Given the description of an element on the screen output the (x, y) to click on. 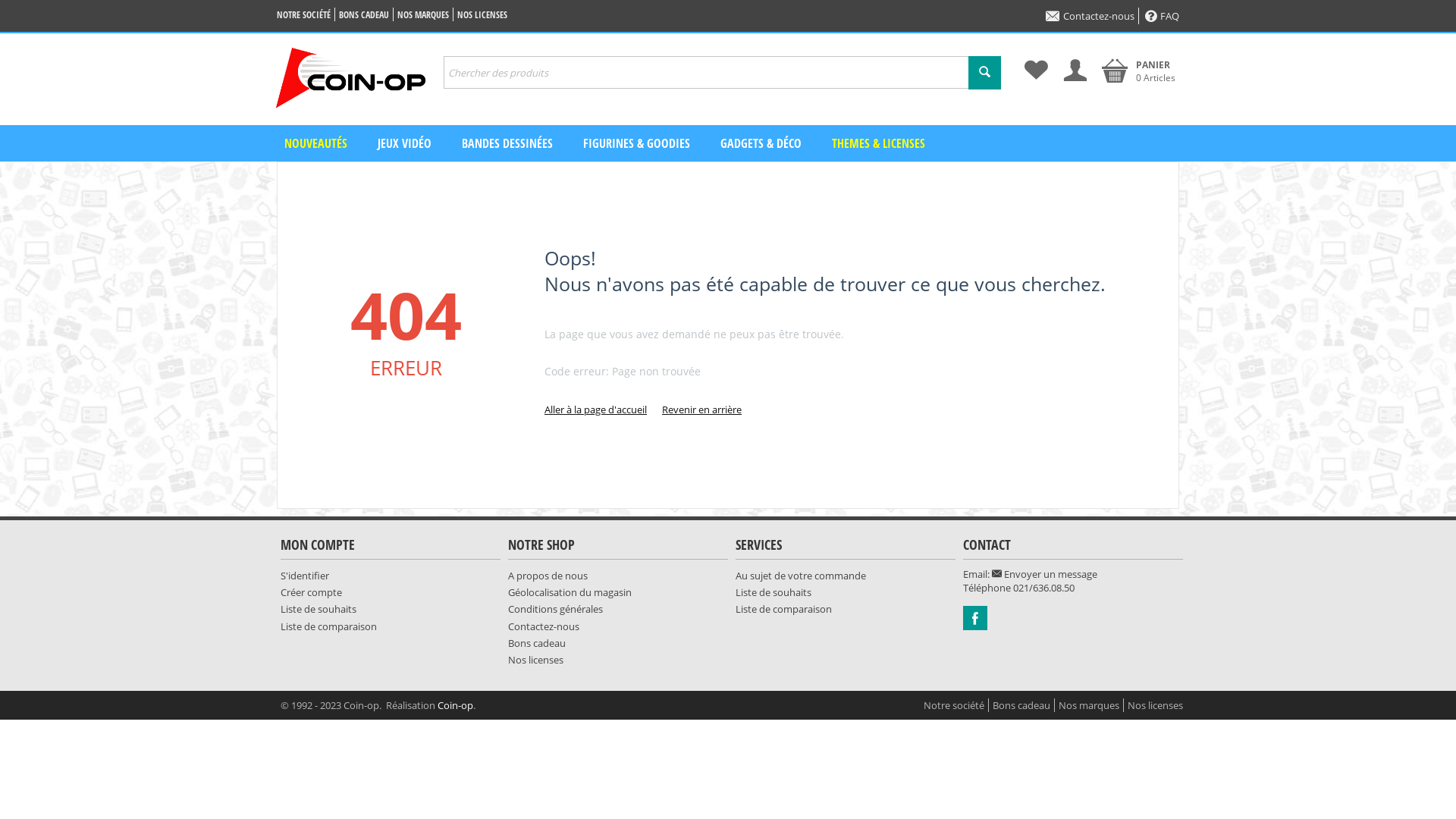
BONS CADEAU Element type: text (363, 14)
Liste de comparaison Element type: text (783, 608)
Coin-op Element type: text (455, 705)
Au sujet de votre commande Element type: text (800, 575)
FAQ Element type: text (1162, 15)
Nos licenses Element type: text (535, 659)
NOS LICENSES Element type: text (482, 14)
Liste de comparaison Element type: text (328, 626)
Chercher des produits Element type: hover (722, 72)
Liste de souhaits Element type: text (773, 592)
Contactez-nous Element type: text (1089, 15)
S'identifier Element type: text (304, 575)
NOS MARQUES Element type: text (422, 14)
Envoyer un message Element type: text (1044, 573)
FIGURINES & GOODIES Element type: text (636, 143)
Bons cadeau Element type: text (1021, 705)
Recherche rapide Element type: hover (984, 72)
THEMES & LICENSES Element type: text (878, 143)
A propos de nous Element type: text (547, 575)
PANIER
0 Articles Element type: text (1138, 71)
Bons cadeau Element type: text (536, 642)
Contactez-nous Element type: text (543, 626)
Nos licenses Element type: text (1155, 705)
Liste de souhaits Element type: text (318, 608)
Nos marques Element type: text (1088, 705)
